Given the description of an element on the screen output the (x, y) to click on. 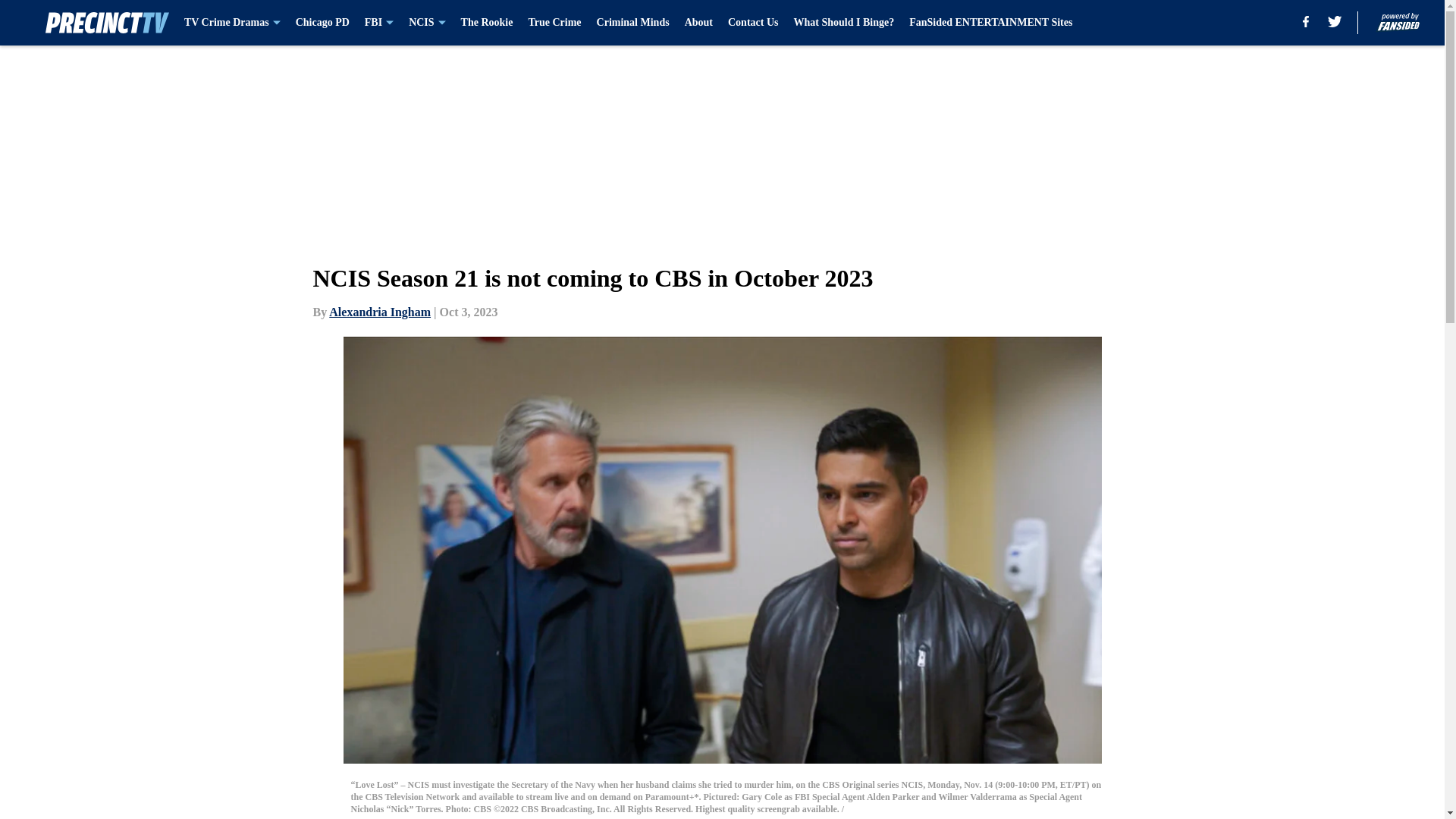
True Crime (553, 22)
Criminal Minds (632, 22)
The Rookie (487, 22)
What Should I Binge? (843, 22)
Alexandria Ingham (379, 311)
Contact Us (753, 22)
FanSided ENTERTAINMENT Sites (989, 22)
Chicago PD (322, 22)
About (698, 22)
